Given the description of an element on the screen output the (x, y) to click on. 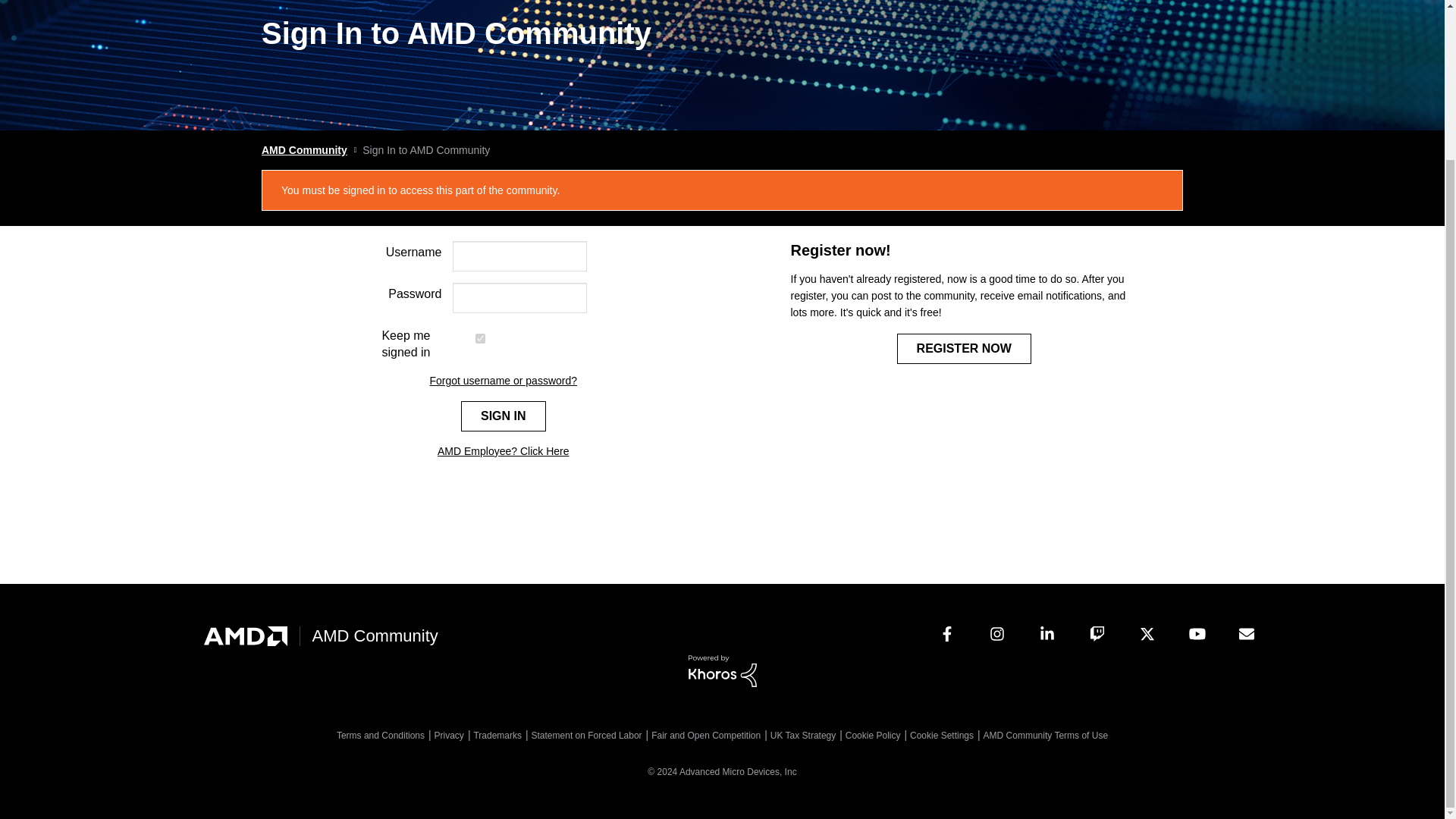
AMD Employee? Click Here (503, 451)
Sign In (503, 416)
AMD Community (375, 636)
Sign In (503, 416)
AMD Community (304, 150)
Register Now (963, 348)
Register Now (963, 348)
AMD Logo (244, 636)
on (480, 338)
Forgot username or password? (502, 380)
